Given the description of an element on the screen output the (x, y) to click on. 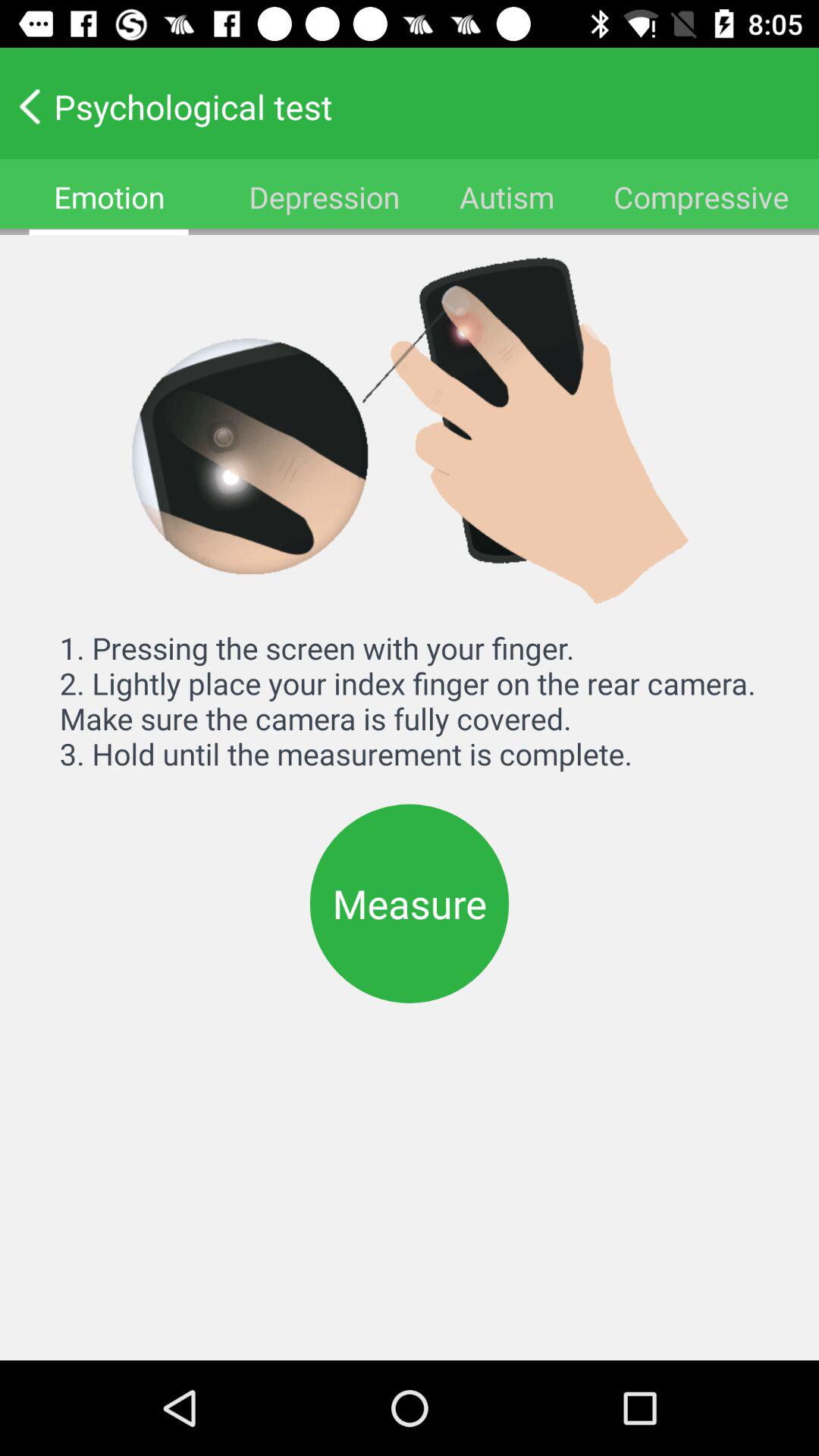
select the item below the psychological test icon (323, 196)
